Given the description of an element on the screen output the (x, y) to click on. 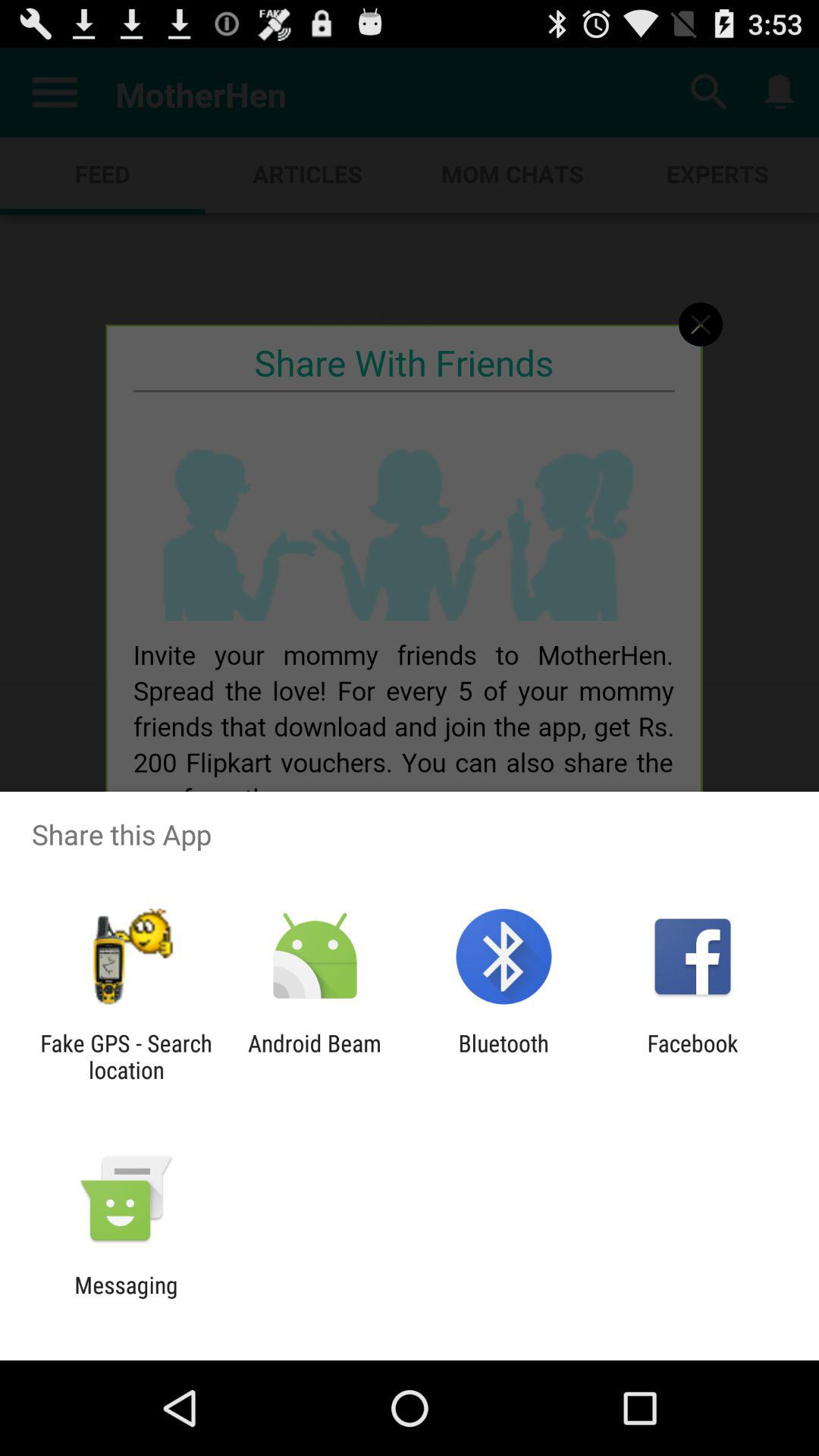
swipe to the android beam item (314, 1056)
